Given the description of an element on the screen output the (x, y) to click on. 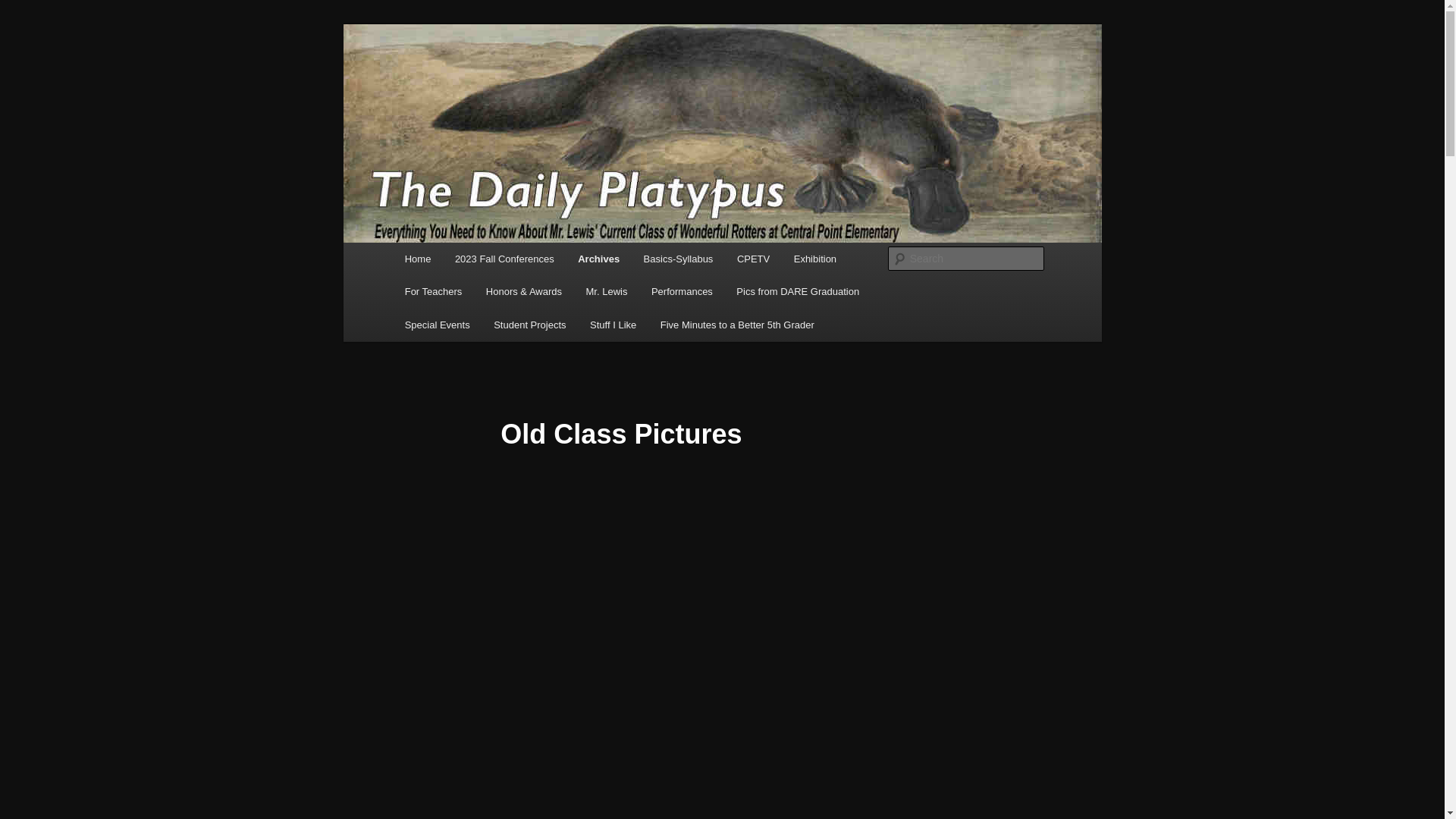
CPETV (753, 258)
Performances (681, 291)
Pics from DARE Graduation (797, 291)
For Teachers (433, 291)
2023 Fall Conferences (504, 258)
Basics-Syllabus (678, 258)
Home (417, 258)
Search (24, 8)
Archives (598, 258)
The Daily Platypus (501, 78)
Mr. Lewis (606, 291)
Exhibition (814, 258)
Special Events (437, 324)
